Given the description of an element on the screen output the (x, y) to click on. 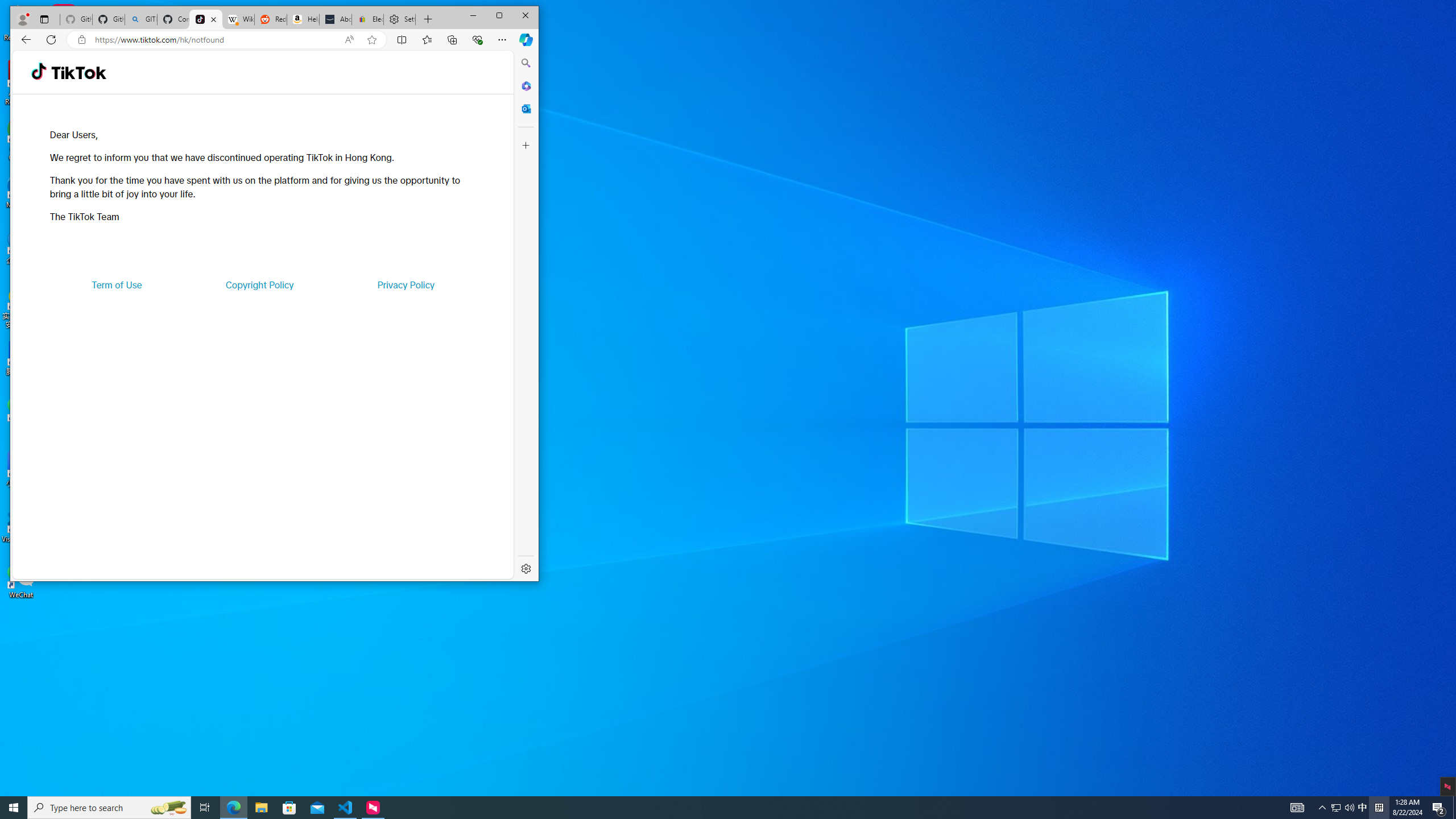
Start (13, 807)
Tray Input Indicator - Chinese (Simplified, China) (1378, 807)
Privacy Policy (405, 284)
Q2790: 100% (1349, 807)
